Given the description of an element on the screen output the (x, y) to click on. 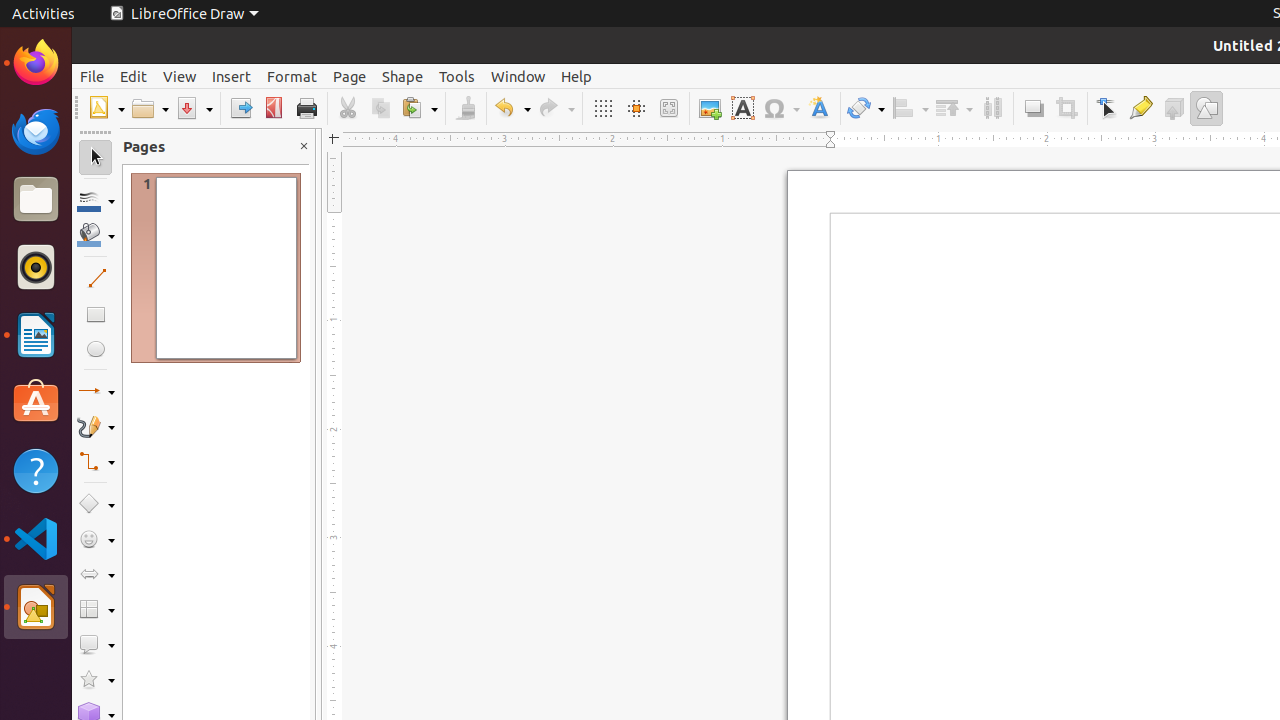
Copy Element type: push-button (380, 108)
Paste Element type: push-button (419, 108)
Align Element type: push-button (910, 108)
Shadow Element type: toggle-button (1033, 108)
Line Color Element type: push-button (96, 200)
